Given the description of an element on the screen output the (x, y) to click on. 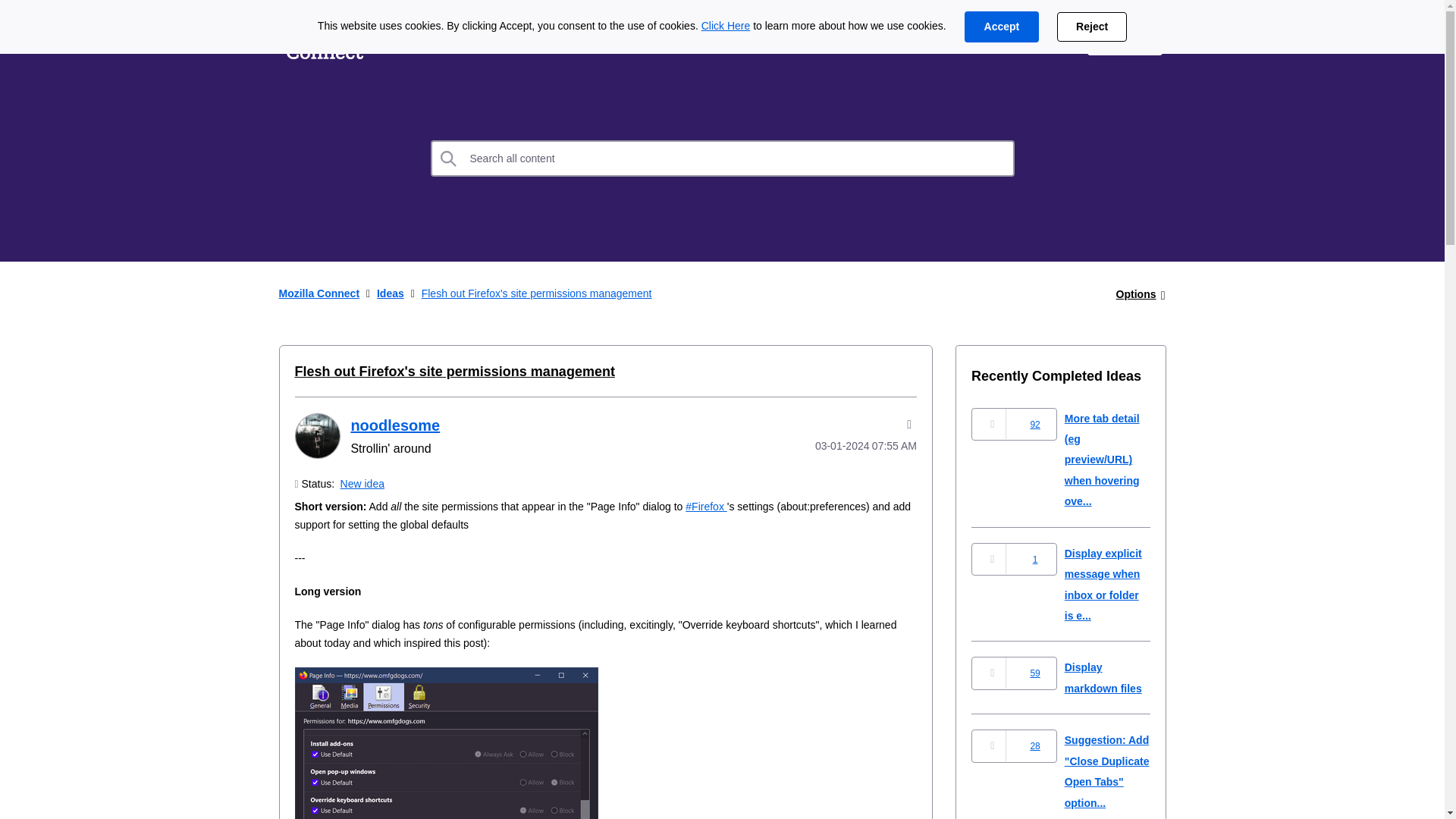
Mozilla Connect (319, 293)
Search (448, 158)
Posted on (845, 445)
Click Here (726, 25)
Sign In (1124, 39)
Firefox (705, 506)
noodlesome (394, 425)
Accept (1001, 26)
Flesh out Firefox's site permissions management (454, 371)
Options (1136, 294)
